Given the description of an element on the screen output the (x, y) to click on. 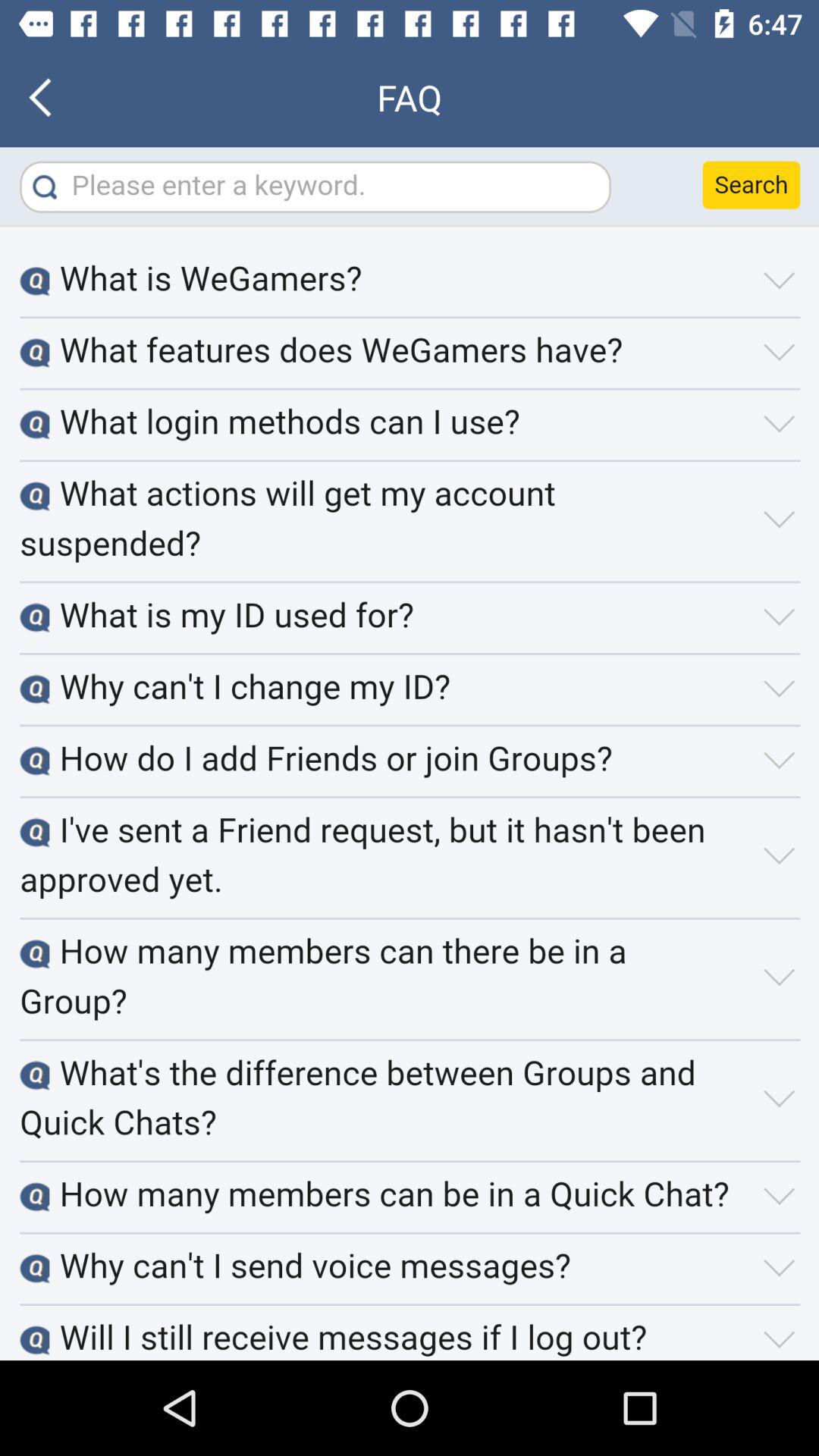
search result (409, 753)
